Given the description of an element on the screen output the (x, y) to click on. 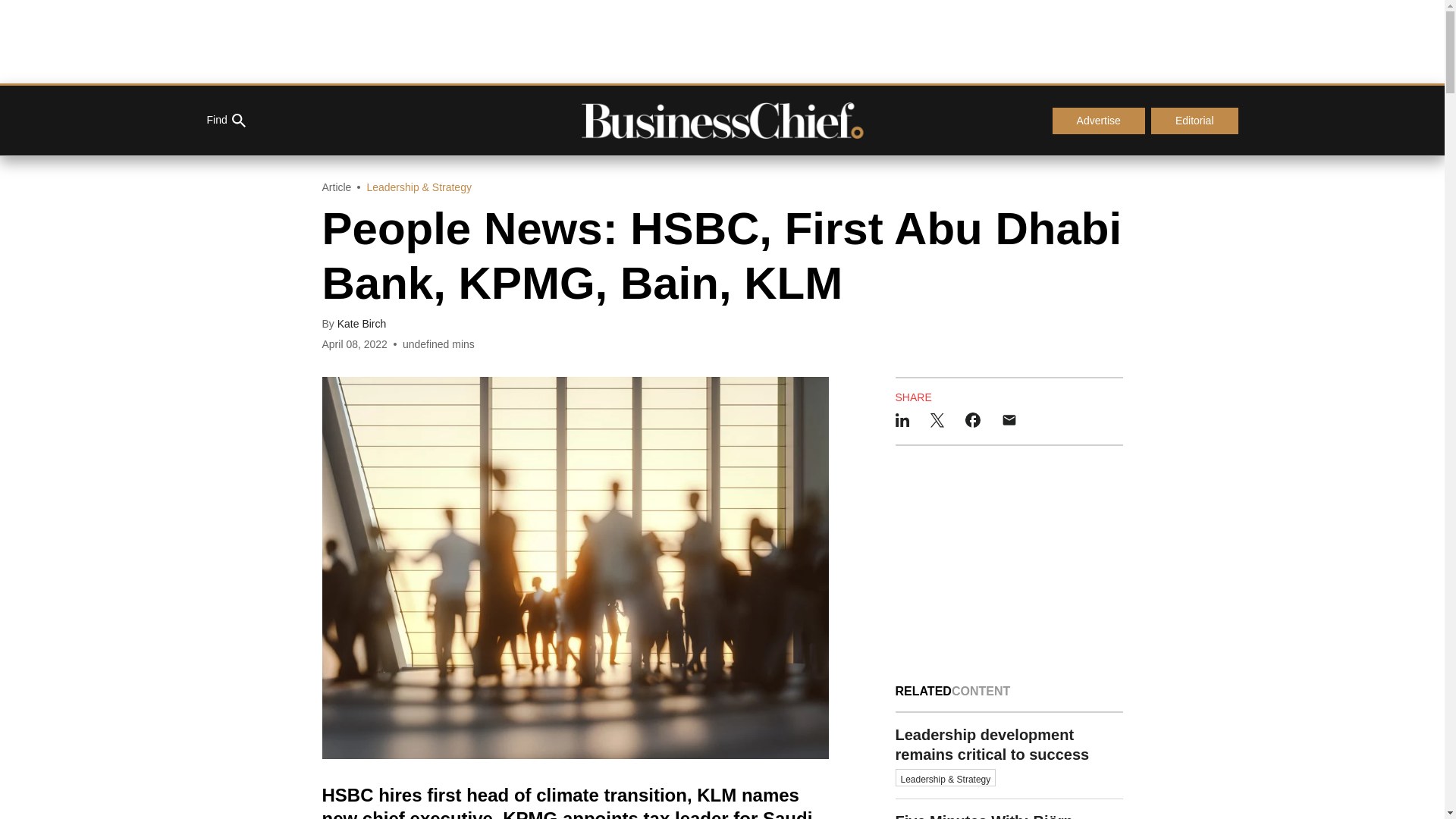
Find (225, 120)
Kate Birch (362, 323)
Editorial (1195, 121)
Advertise (1098, 121)
